Given the description of an element on the screen output the (x, y) to click on. 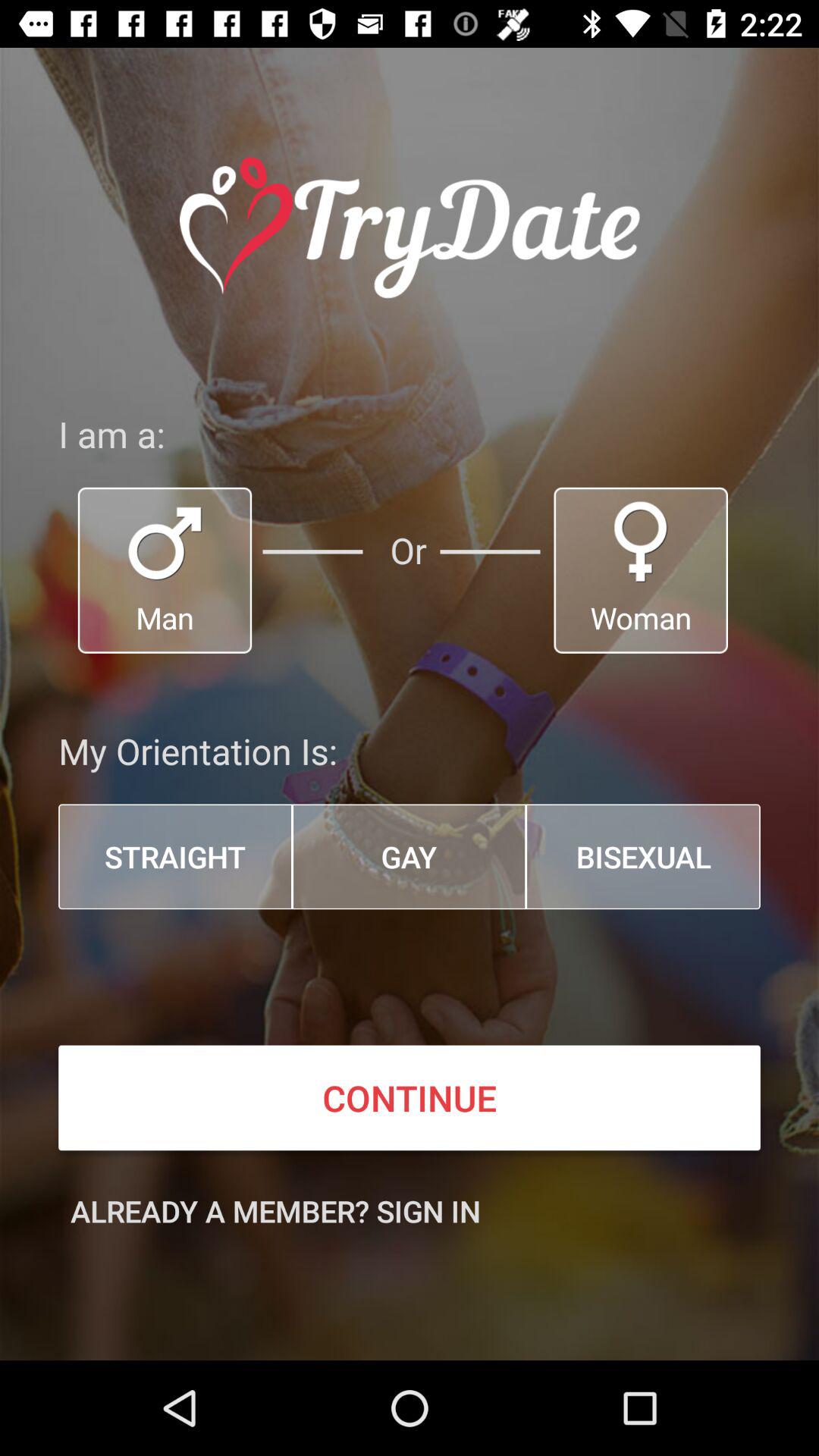
select man (164, 570)
